Given the description of an element on the screen output the (x, y) to click on. 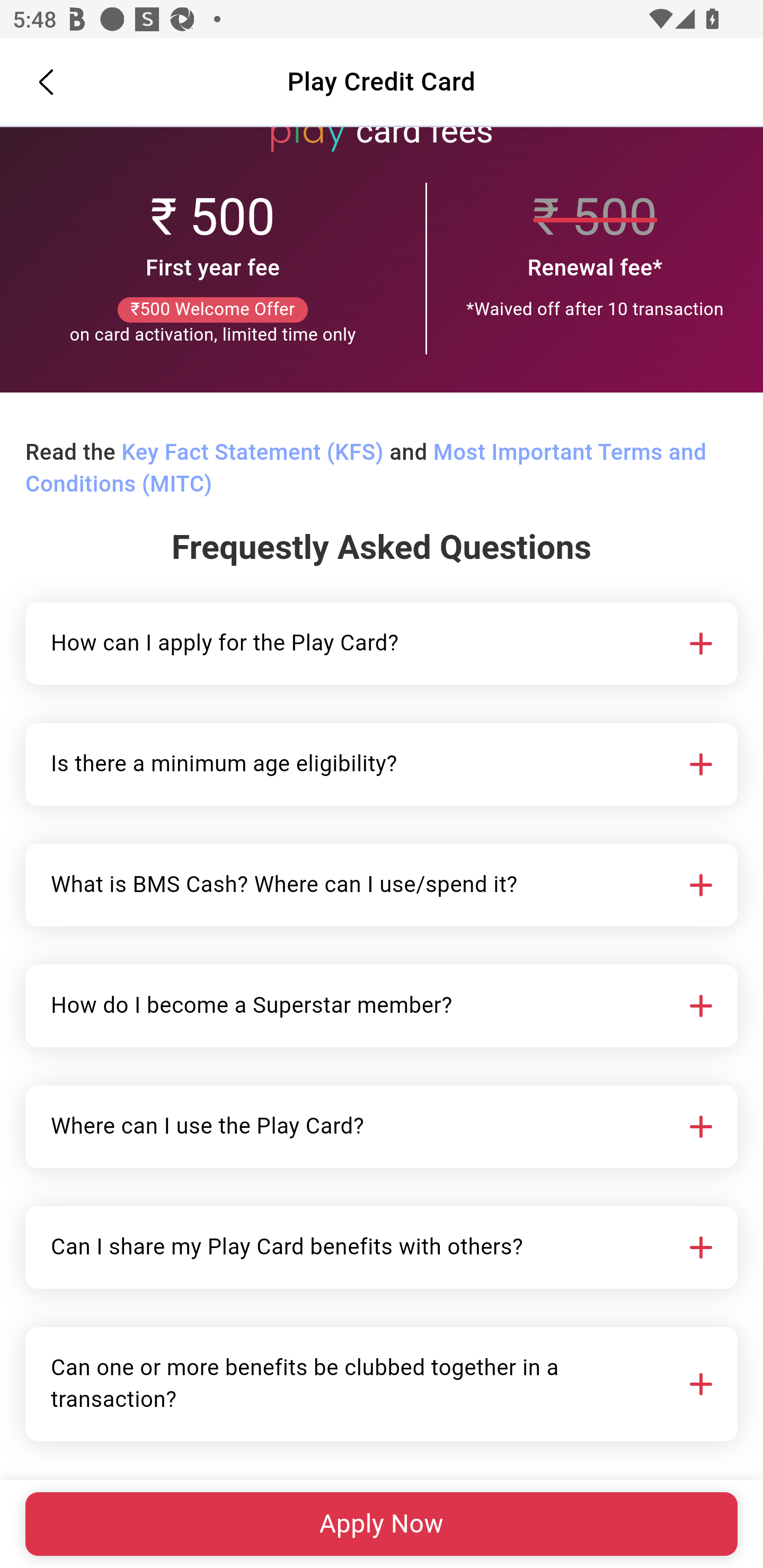
Most Important Terms and Conditions (MITC) (366, 469)
Key Fact Statement (KFS) (252, 453)
